Given the description of an element on the screen output the (x, y) to click on. 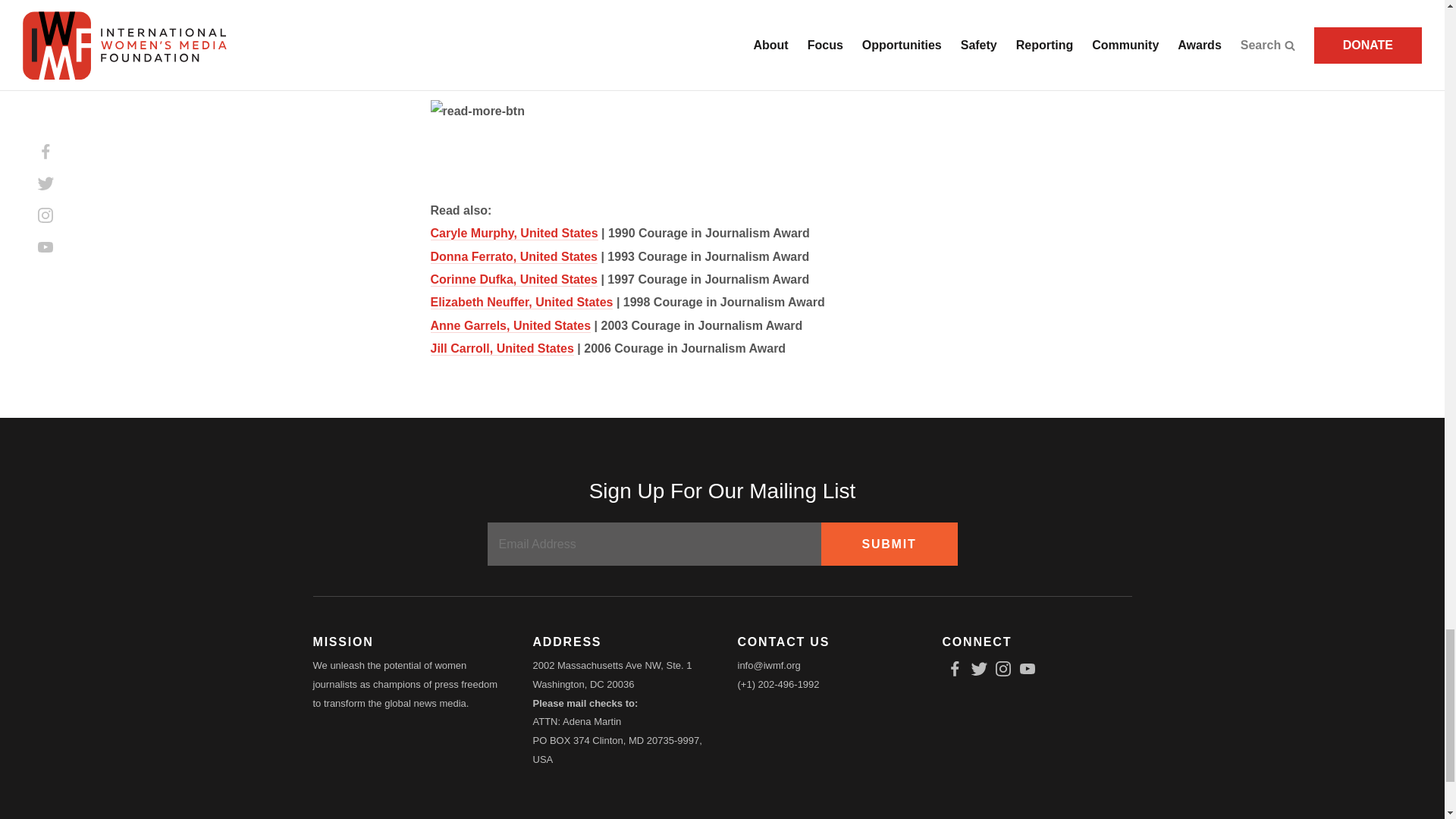
Submit (888, 543)
